Given the description of an element on the screen output the (x, y) to click on. 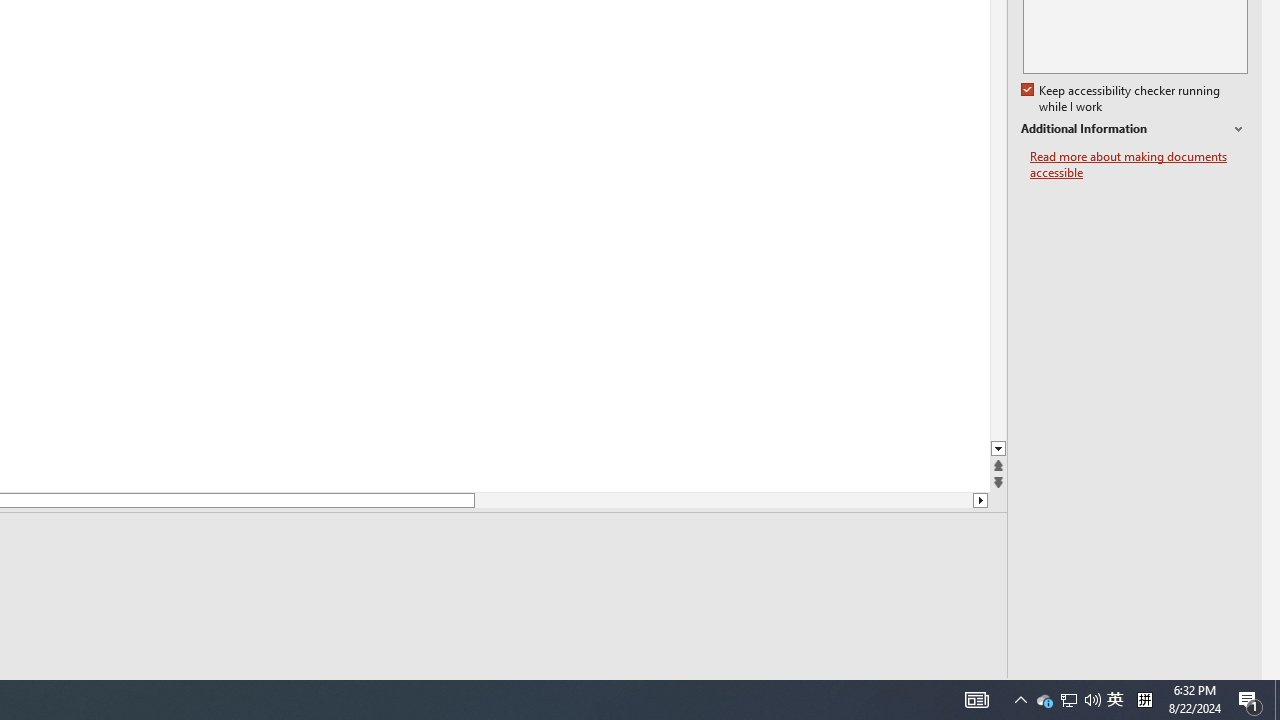
Slide Show Next On (924, 691)
Slide Show Previous On (860, 691)
Menu On (892, 691)
